Given the description of an element on the screen output the (x, y) to click on. 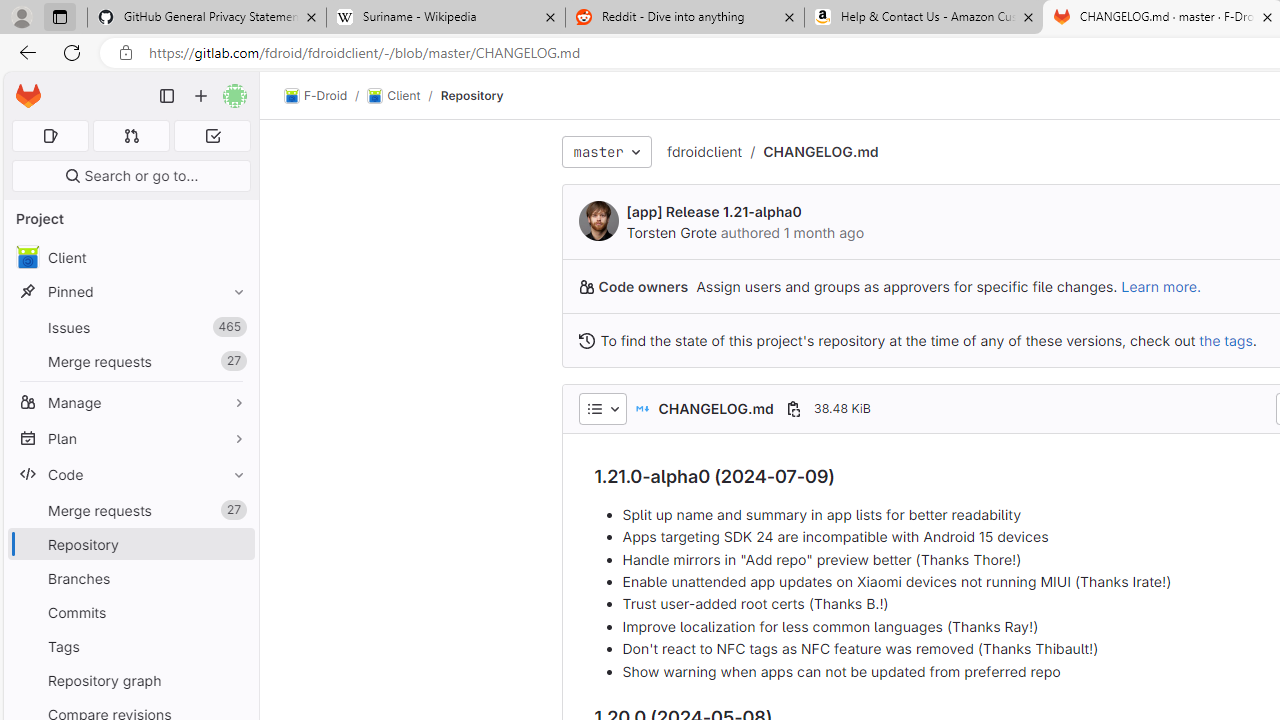
Repository (472, 95)
Commits (130, 612)
Class: s16 gl-mr-1 gl-align-text-bottom (586, 340)
Commits (130, 612)
Suriname - Wikipedia (445, 17)
F-Droid/ (326, 96)
Merge requests27 (130, 510)
Issues465 (130, 327)
To-Do list 0 (212, 136)
Learn more. (1160, 286)
Client (130, 257)
Tags (130, 646)
